Given the description of an element on the screen output the (x, y) to click on. 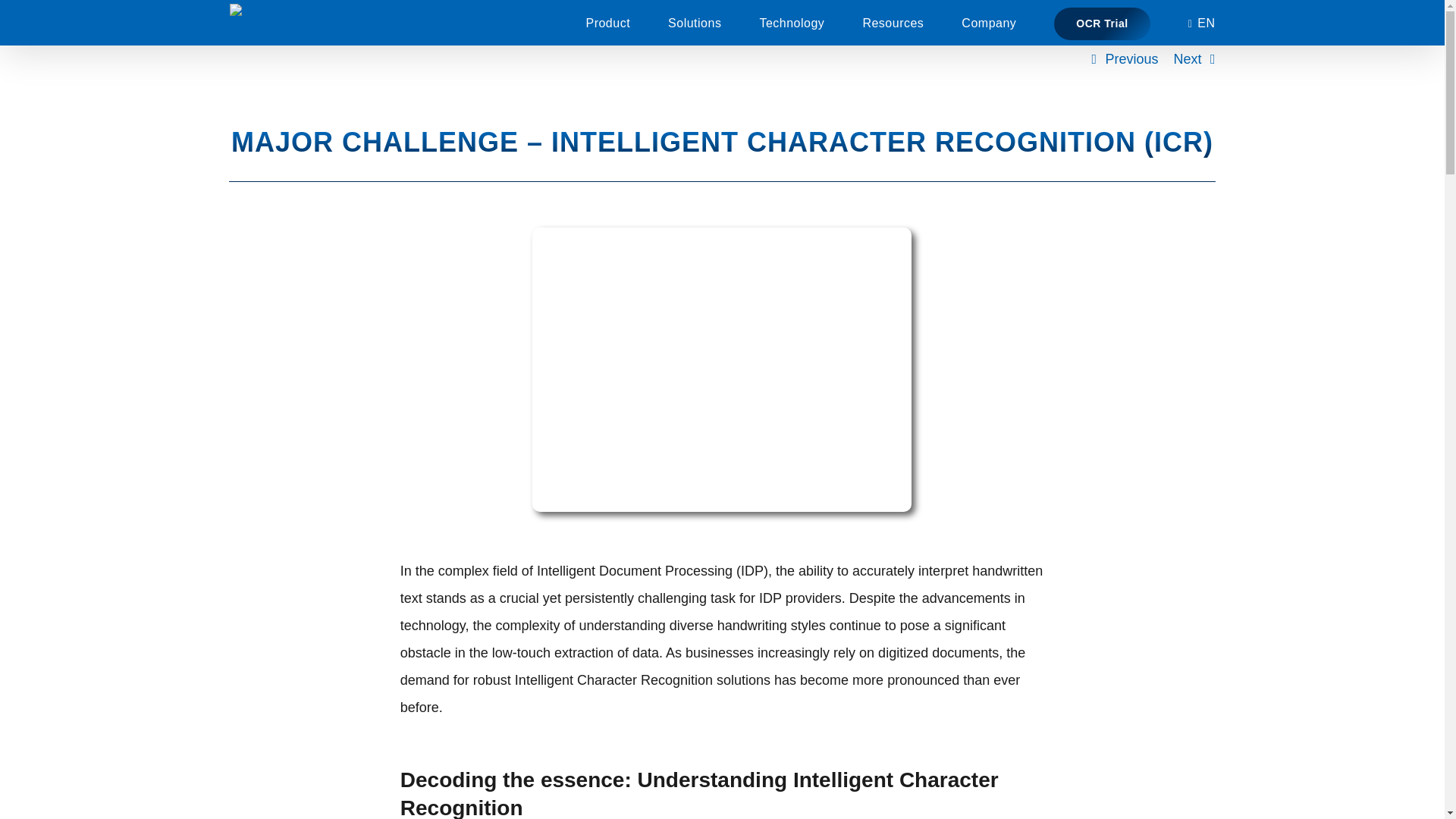
Company (988, 22)
Resources (892, 22)
Technology (791, 22)
Product (607, 22)
Solutions (694, 22)
OCR Trial (1102, 22)
